Given the description of an element on the screen output the (x, y) to click on. 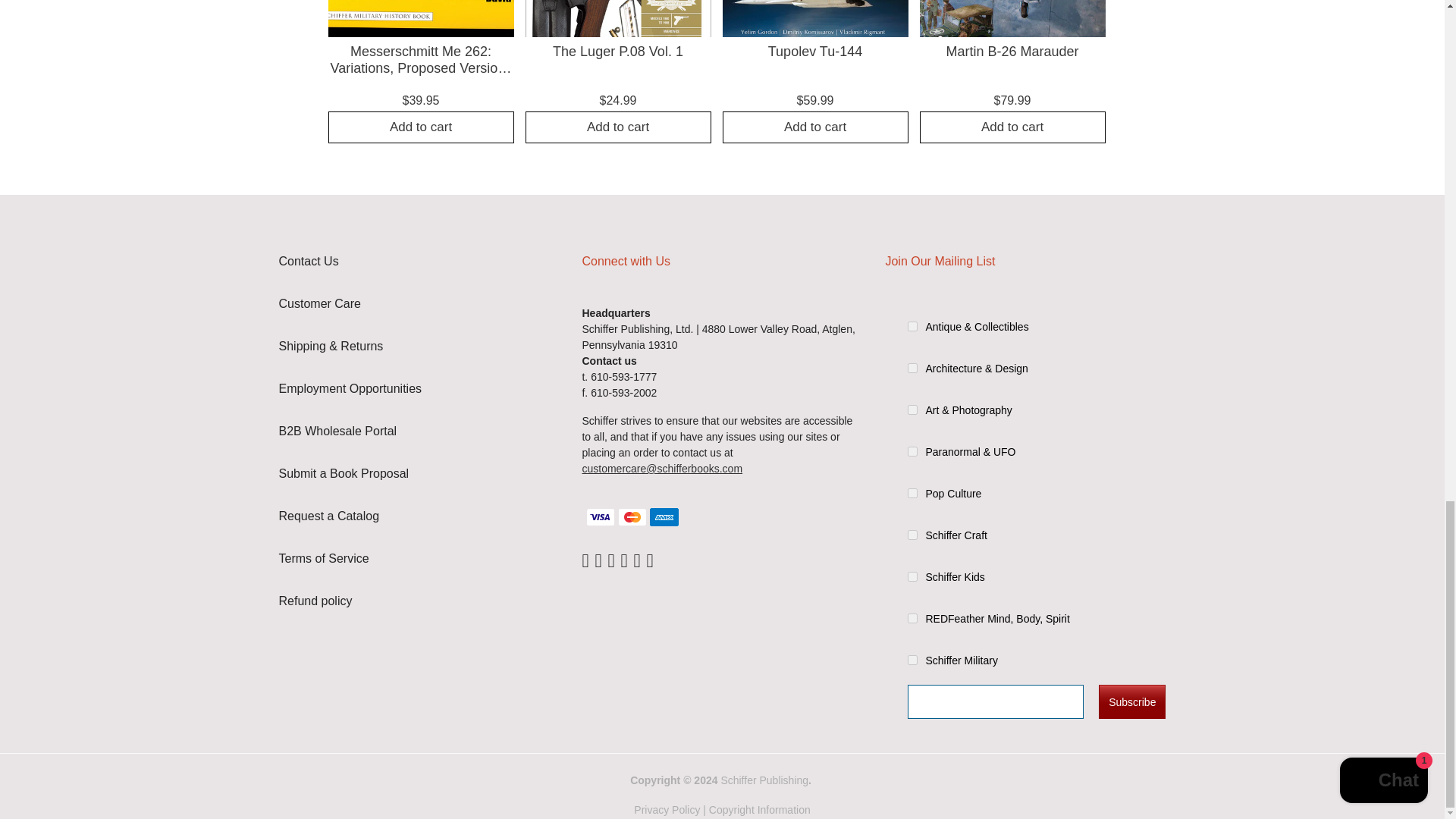
Subscribe (1132, 701)
TRADEMARKS, COPYRIGHTS, AND RESTRICTIONS (759, 809)
Privacy Policy (666, 809)
